Given the description of an element on the screen output the (x, y) to click on. 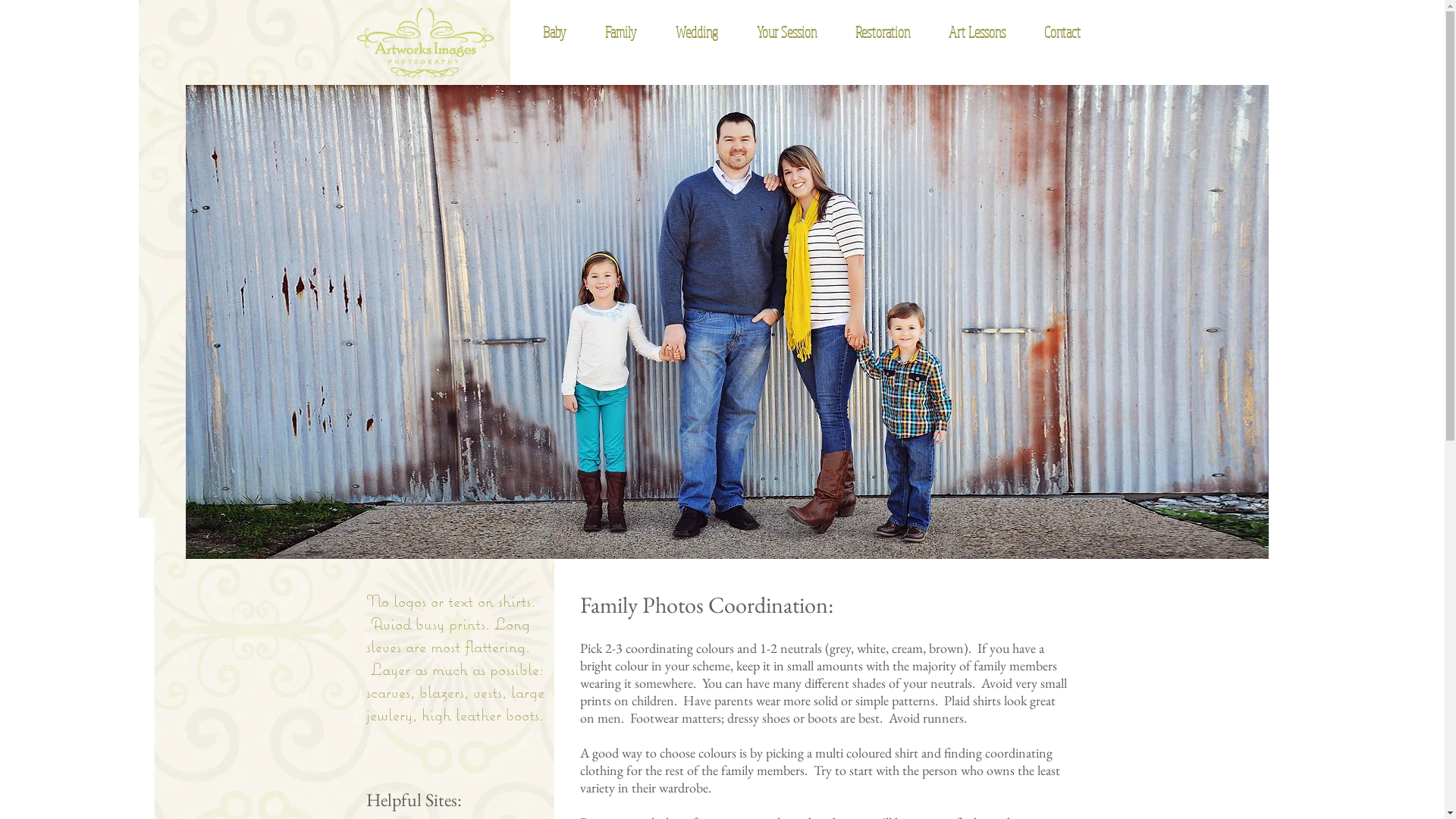
Contact Element type: text (1053, 32)
Restoration Element type: text (874, 32)
